Given the description of an element on the screen output the (x, y) to click on. 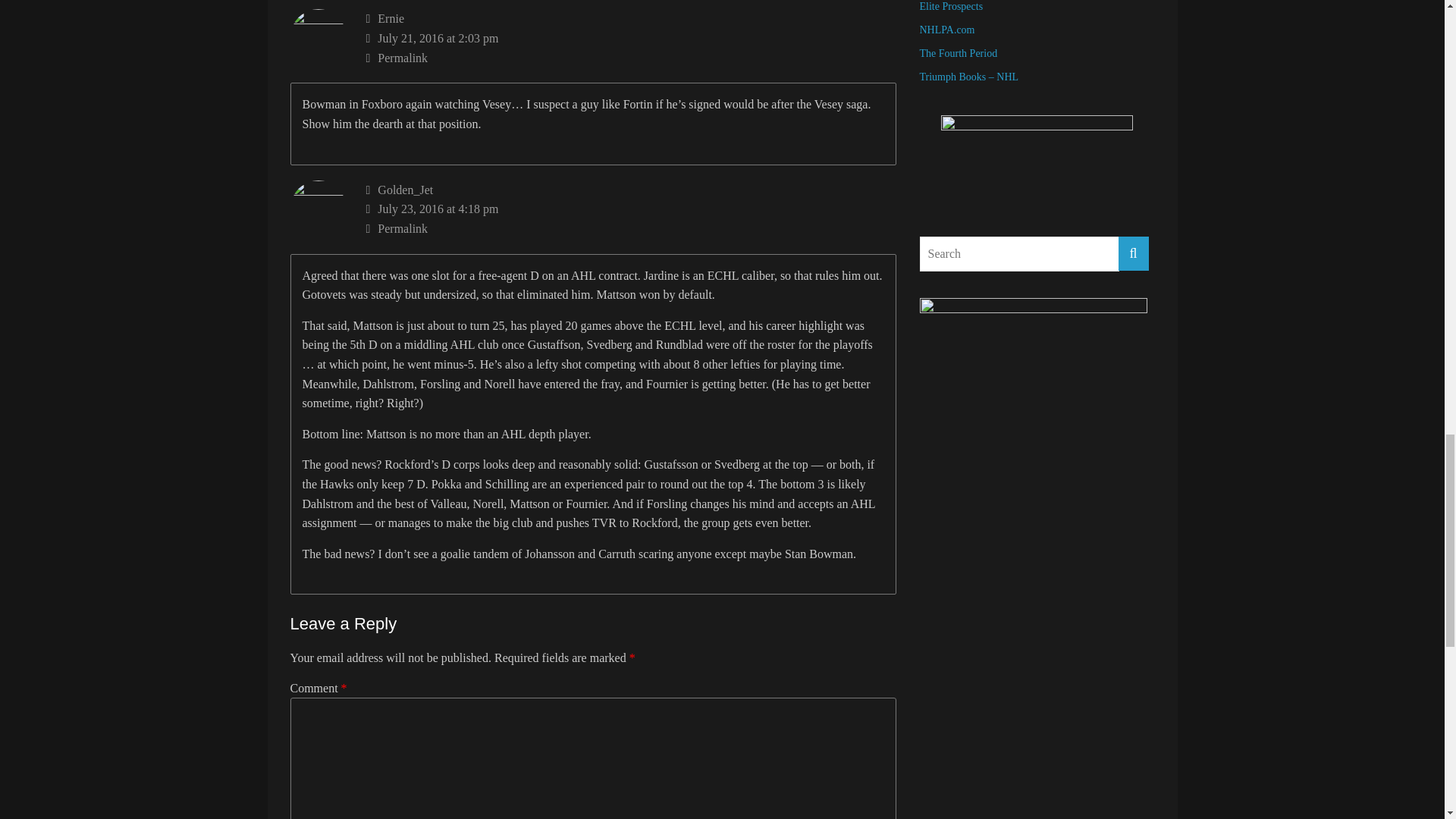
Permalink (630, 229)
Permalink (630, 57)
